Given the description of an element on the screen output the (x, y) to click on. 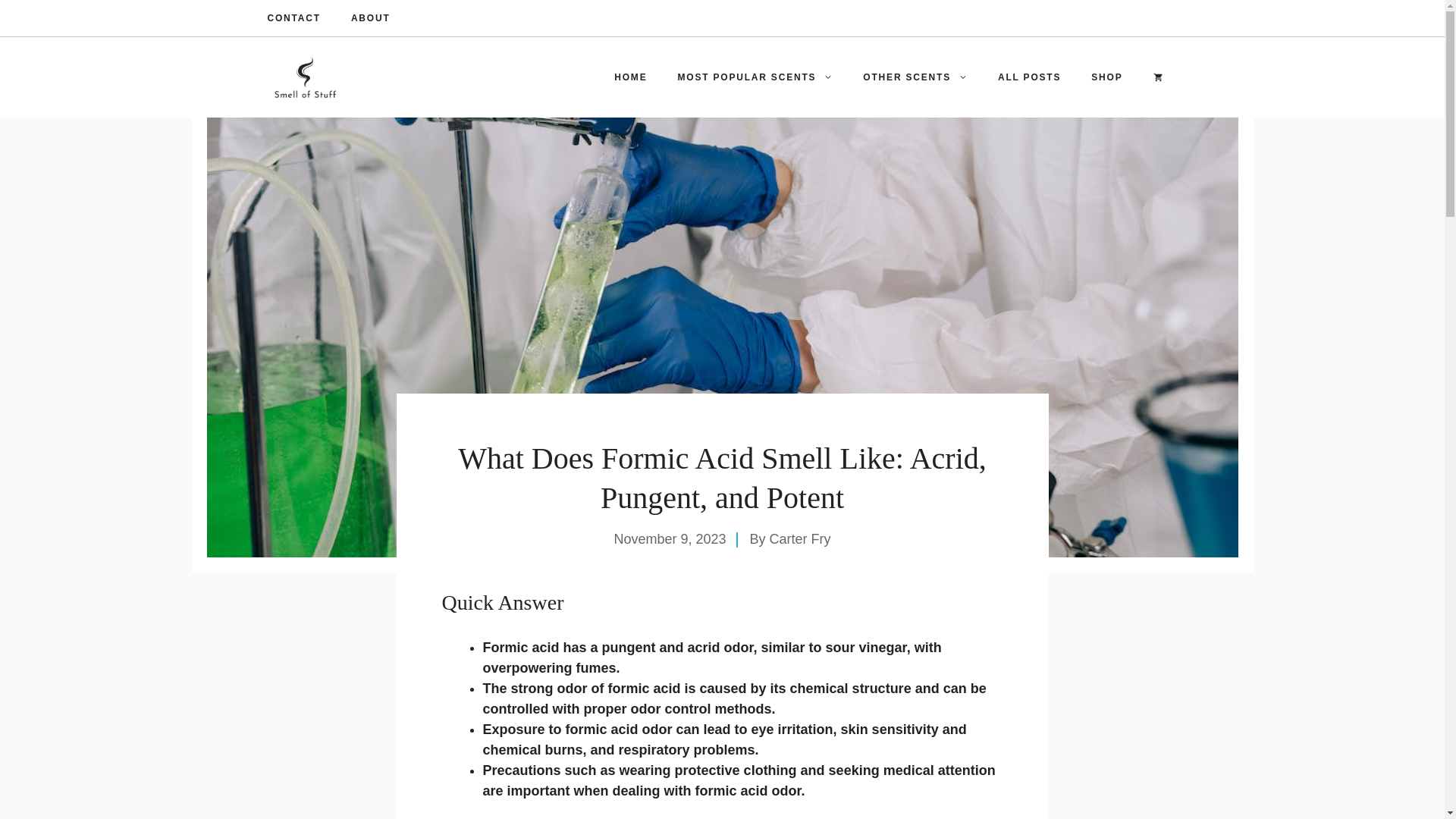
SHOP (1106, 76)
HOME (630, 76)
MOST POPULAR SCENTS (754, 76)
Carter Fry (800, 539)
ALL POSTS (1028, 76)
OTHER SCENTS (914, 76)
CONTACT (293, 18)
ABOUT (370, 18)
